Given the description of an element on the screen output the (x, y) to click on. 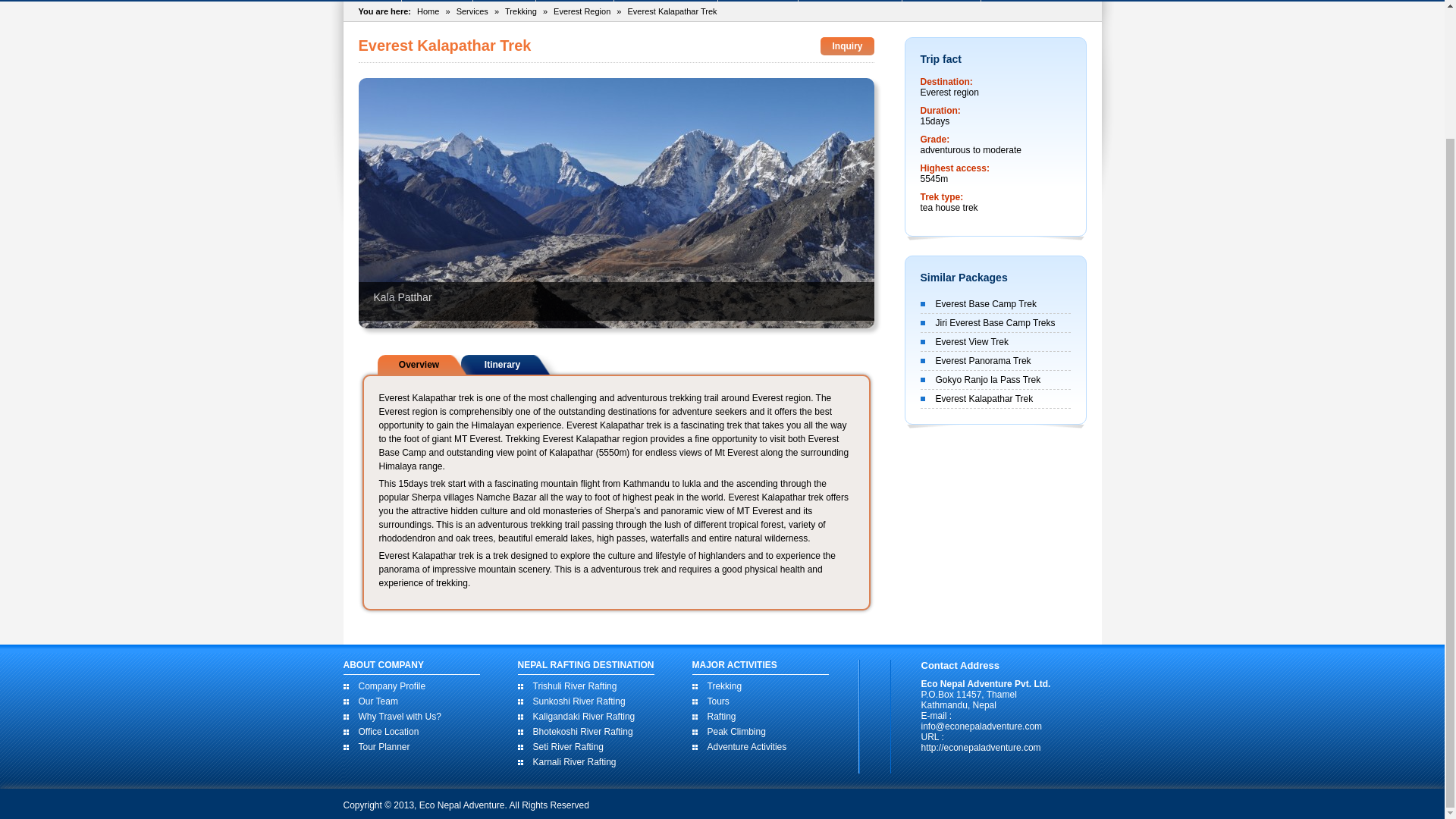
JUNGLE SAFARI (849, 0)
Services (472, 10)
RAFTING (436, 0)
TICKETING (757, 0)
Home (427, 10)
HOME (371, 0)
Tours (504, 0)
TOURS (504, 0)
Home (371, 0)
CONTACT US (1025, 0)
PEAK CLIMBING (665, 0)
Rafting (436, 0)
ABOUT US (940, 0)
Trekking (574, 0)
TREKKING (574, 0)
